Given the description of an element on the screen output the (x, y) to click on. 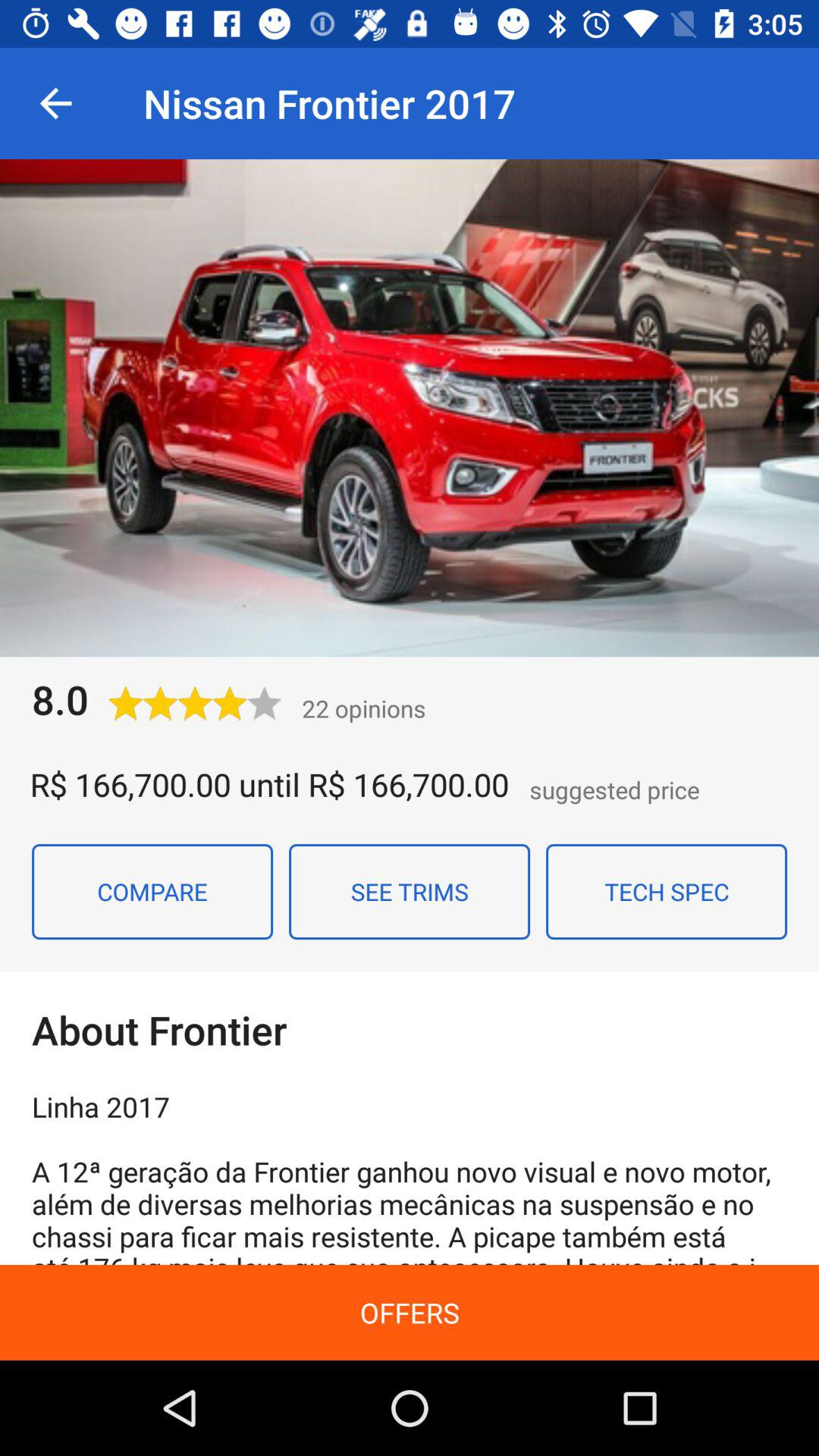
press item below r 166 700 icon (409, 891)
